Given the description of an element on the screen output the (x, y) to click on. 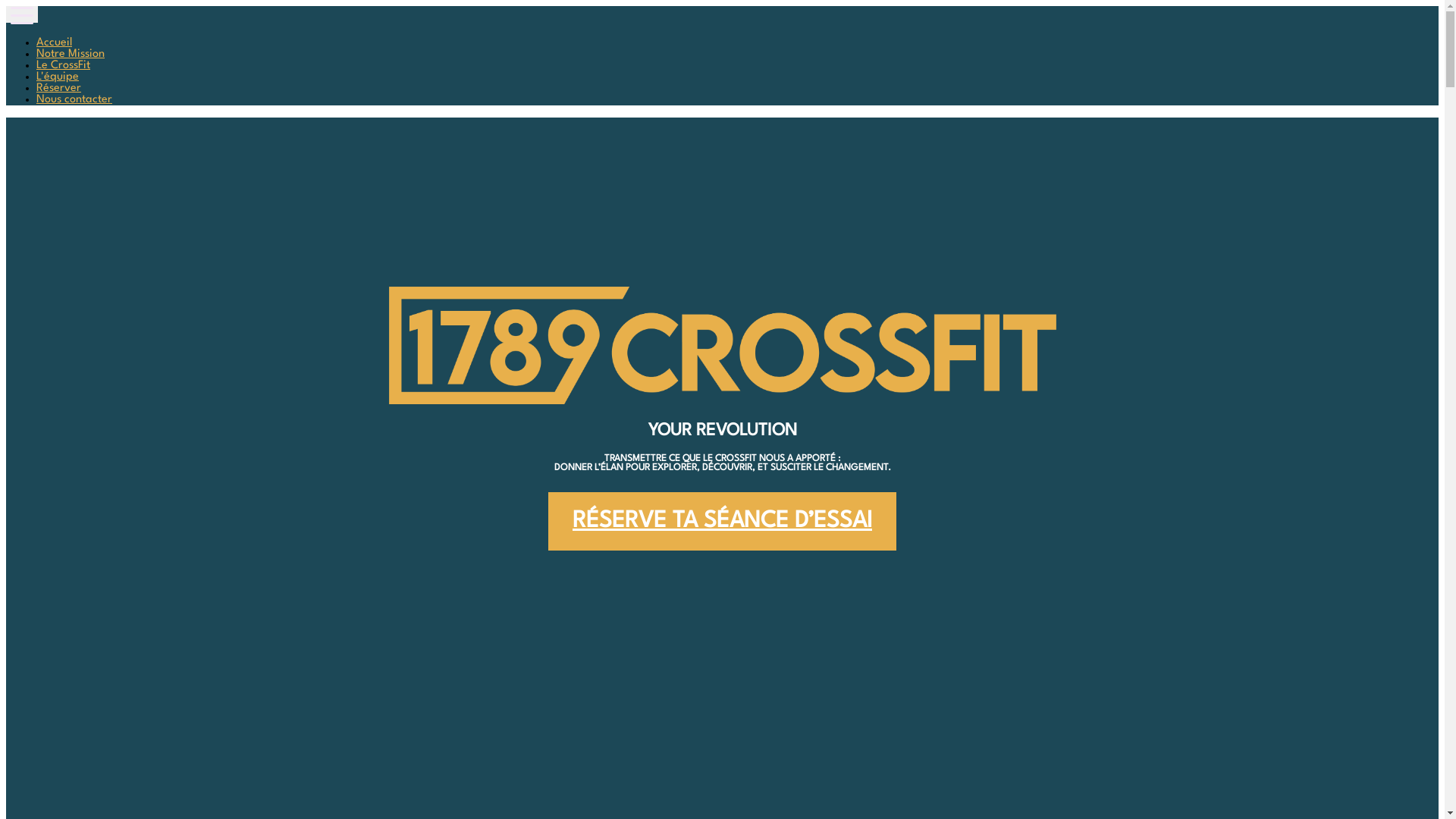
Accueil Element type: text (54, 42)
Le CrossFit Element type: text (63, 65)
Notre Mission Element type: text (70, 53)
Nous contacter Element type: text (74, 99)
